Given the description of an element on the screen output the (x, y) to click on. 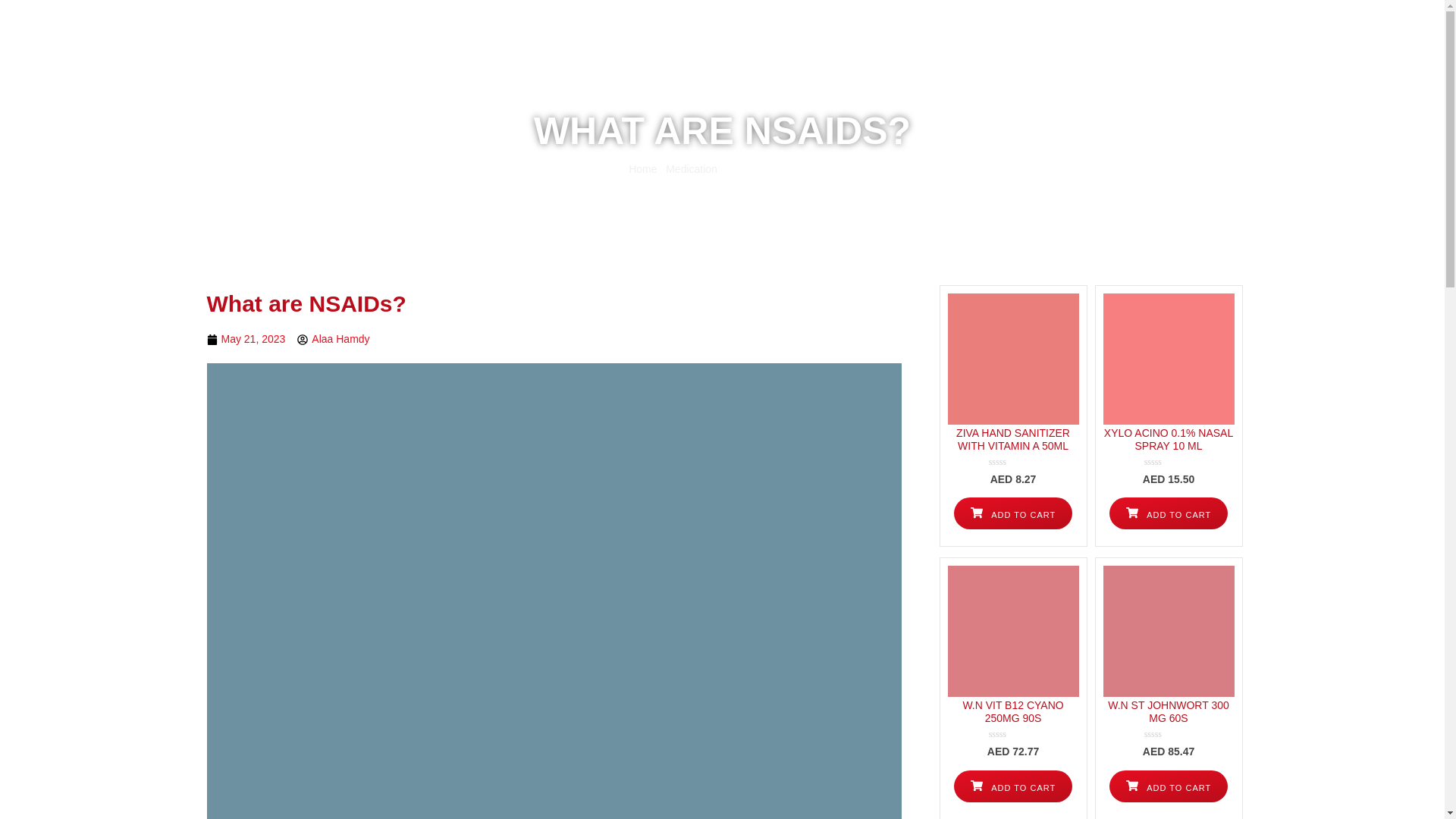
My Account (1129, 12)
Health Calculator (1014, 65)
Career (1094, 65)
About Us (929, 65)
Book an appointment (785, 65)
